Given the description of an element on the screen output the (x, y) to click on. 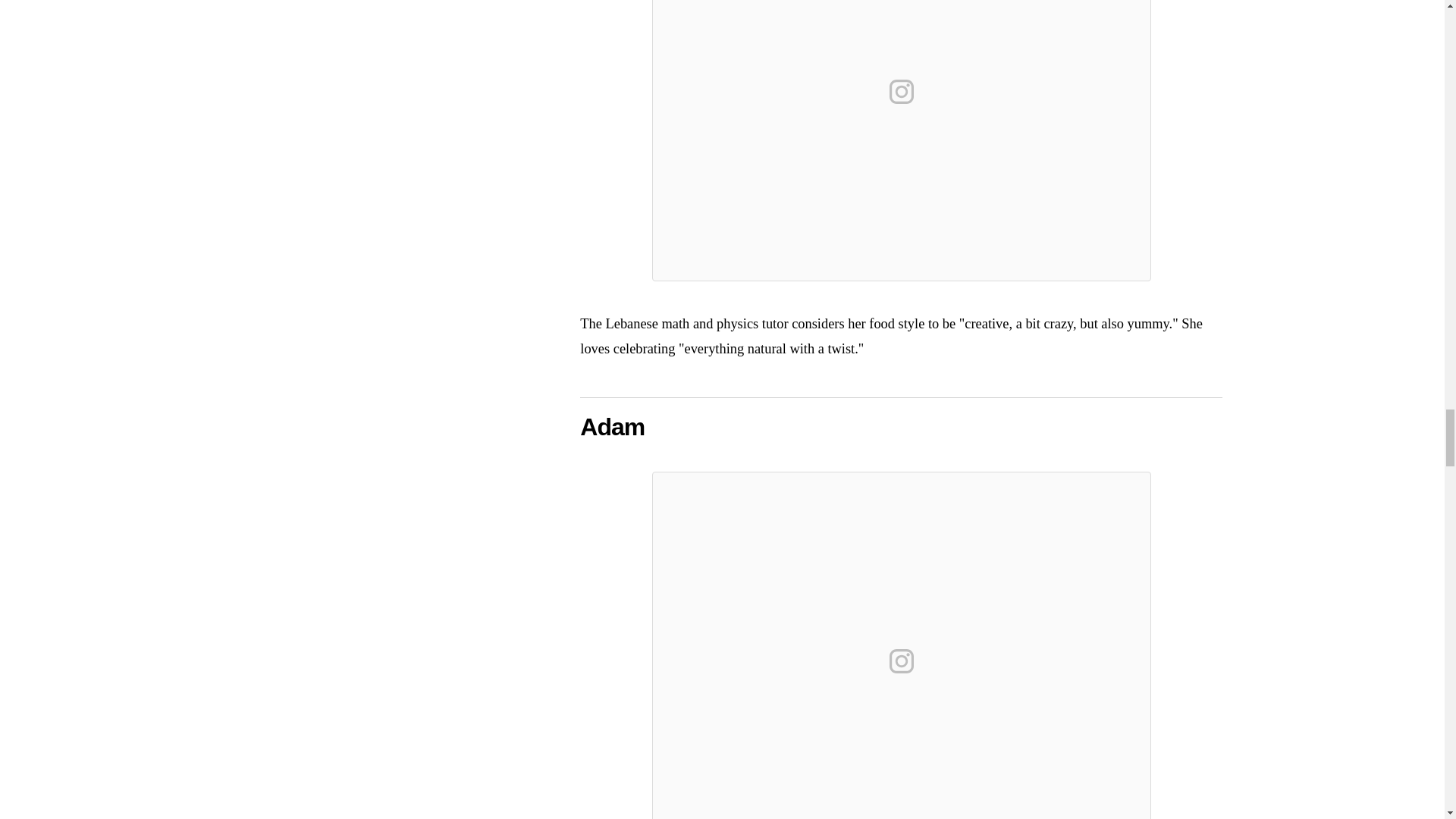
View on Instagram (901, 91)
View on Instagram (901, 660)
